Given the description of an element on the screen output the (x, y) to click on. 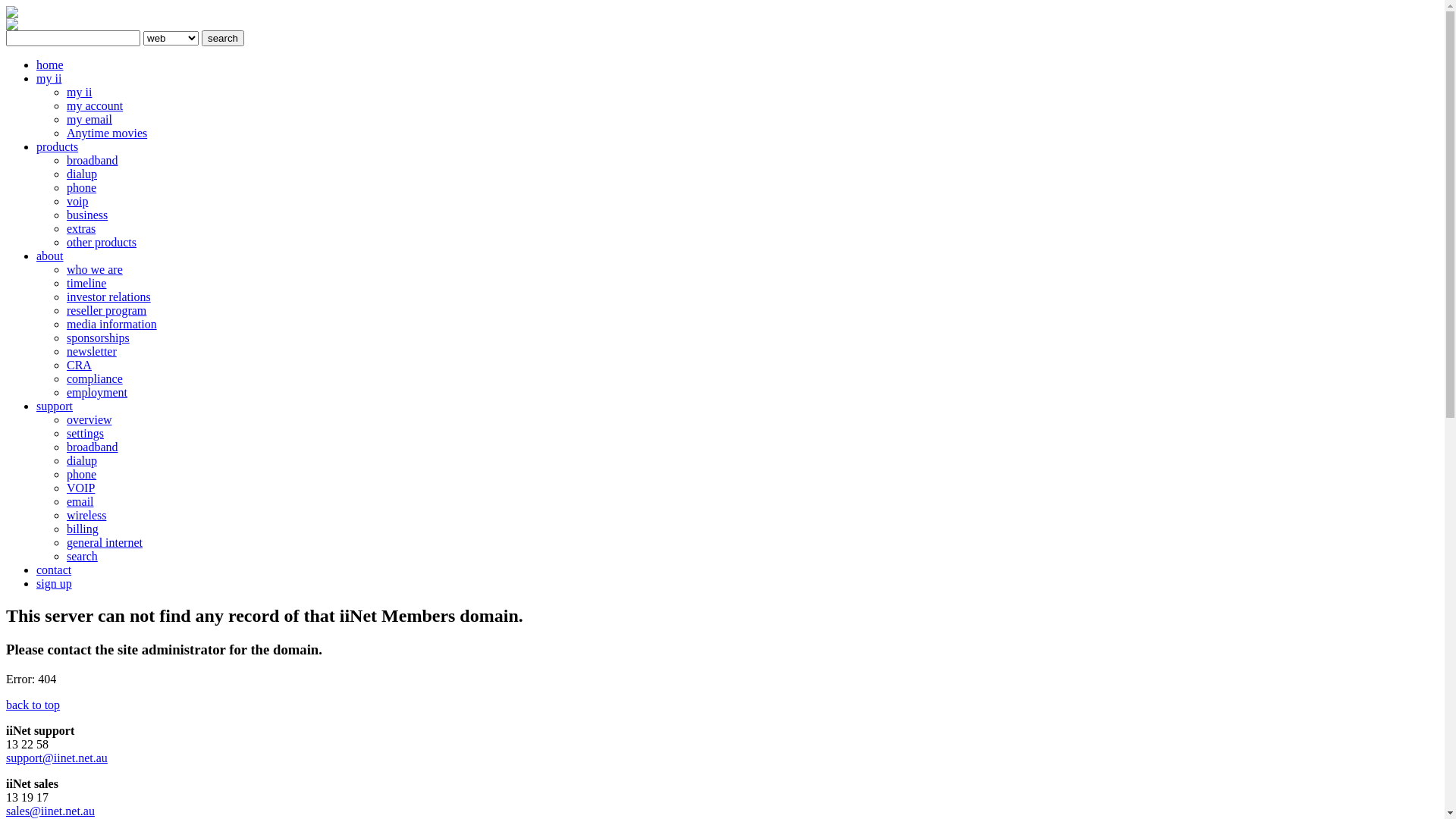
media information Element type: text (111, 323)
search Element type: text (81, 555)
dialup Element type: text (81, 173)
search Element type: text (222, 38)
phone Element type: text (81, 473)
home Element type: text (49, 64)
my email Element type: text (89, 118)
reseller program Element type: text (106, 310)
VOIP Element type: text (80, 487)
broadband Element type: text (92, 446)
sponsorships Element type: text (97, 337)
settings Element type: text (84, 432)
sales@iinet.net.au Element type: text (50, 810)
my account Element type: text (94, 105)
timeline Element type: text (86, 282)
my ii Element type: text (48, 78)
products Element type: text (57, 146)
general internet Element type: text (104, 542)
back to top Element type: text (32, 704)
compliance Element type: text (94, 378)
sign up Element type: text (54, 583)
wireless Element type: text (86, 514)
my ii Element type: text (78, 91)
email Element type: text (80, 501)
broadband Element type: text (92, 159)
support Element type: text (54, 405)
voip Element type: text (76, 200)
phone Element type: text (81, 187)
contact Element type: text (53, 569)
extras Element type: text (80, 228)
Anytime movies Element type: text (106, 132)
billing Element type: text (82, 528)
dialup Element type: text (81, 460)
about Element type: text (49, 255)
other products Element type: text (101, 241)
support@iinet.net.au Element type: text (56, 757)
who we are Element type: text (94, 269)
CRA Element type: text (78, 364)
employment Element type: text (96, 391)
overview Element type: text (89, 419)
newsletter Element type: text (91, 351)
business Element type: text (86, 214)
investor relations Element type: text (108, 296)
